Given the description of an element on the screen output the (x, y) to click on. 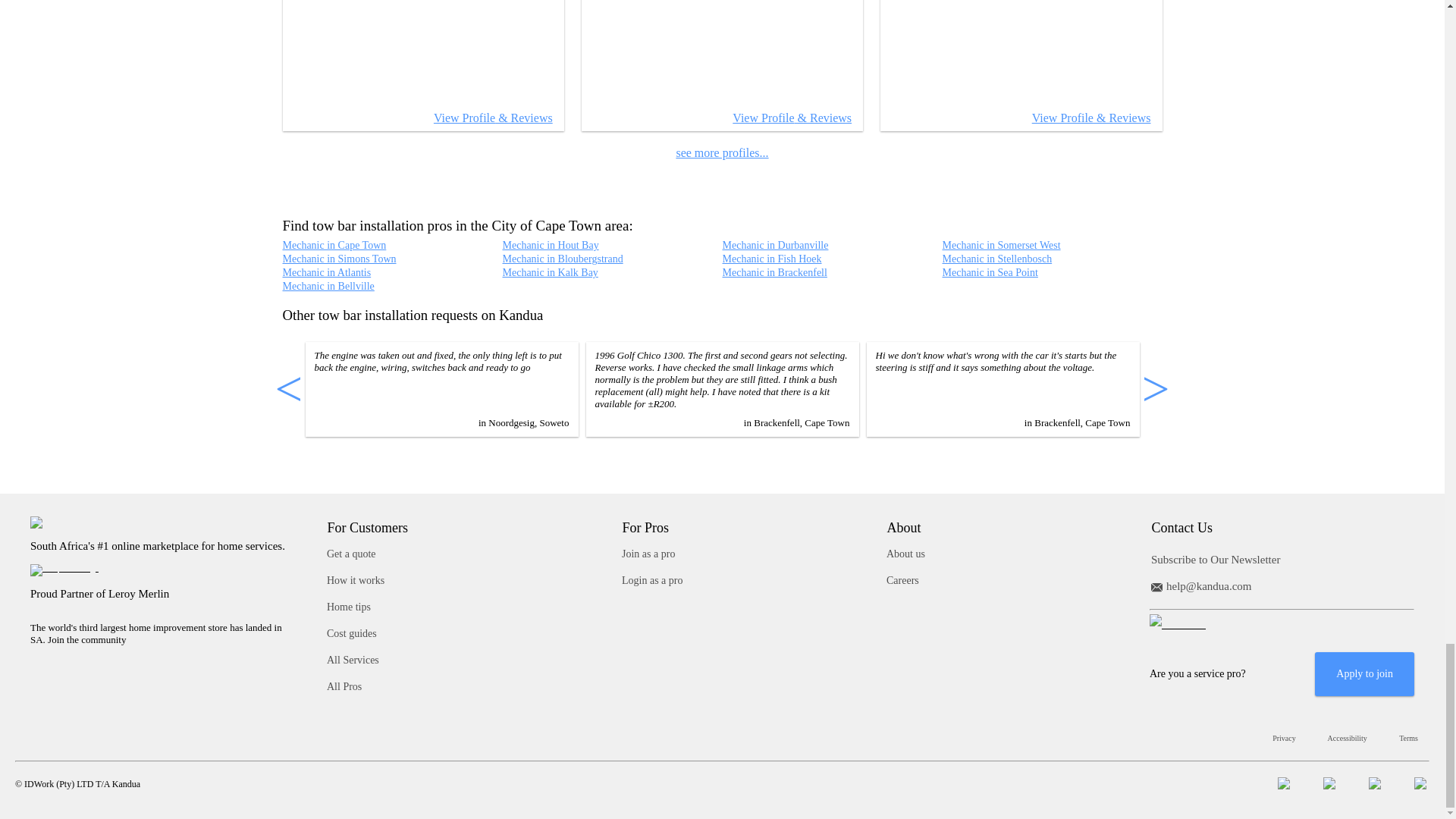
Mechanic in Hout Bay (550, 244)
Mechanic in Durbanville (775, 244)
Mechanic in Cape Town (333, 244)
